Given the description of an element on the screen output the (x, y) to click on. 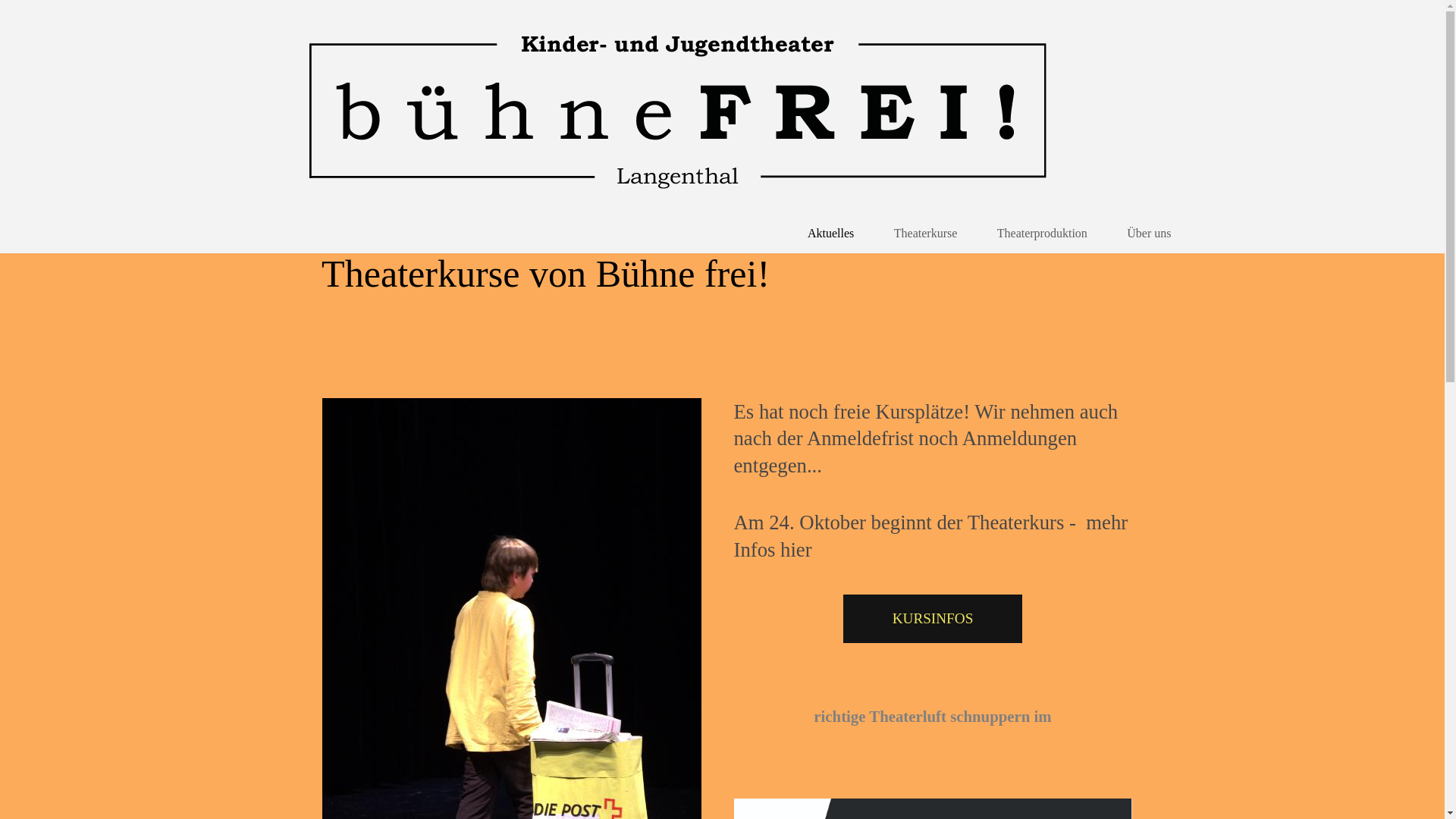
Aktuelles Element type: text (830, 232)
Theaterkurse Element type: text (925, 232)
Theaterproduktion Element type: text (1042, 232)
KURSINFOS Element type: text (932, 618)
